Given the description of an element on the screen output the (x, y) to click on. 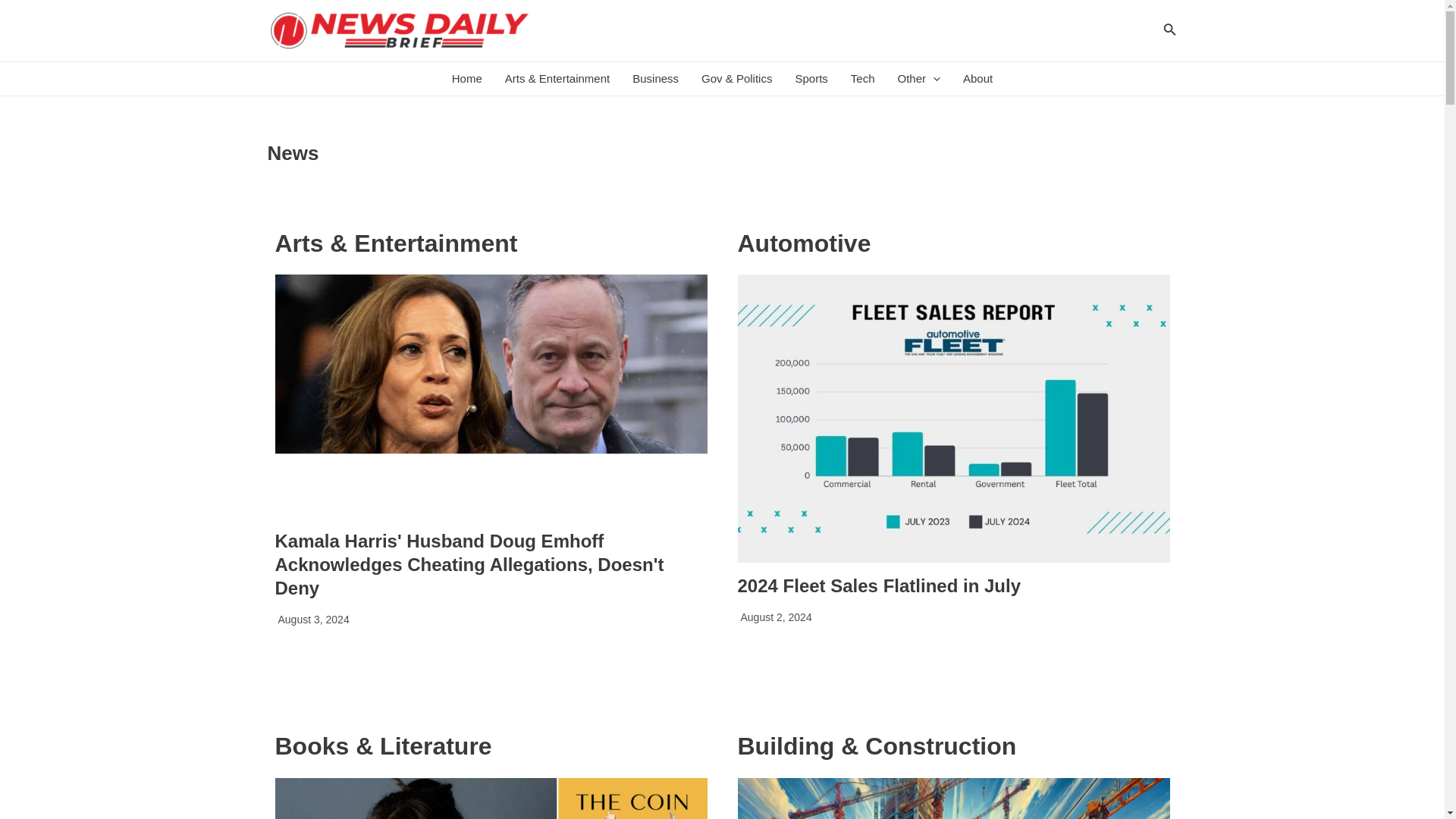
Business (655, 78)
Sports (810, 78)
Other (918, 78)
Tech (863, 78)
About (978, 78)
Home (467, 78)
